Given the description of an element on the screen output the (x, y) to click on. 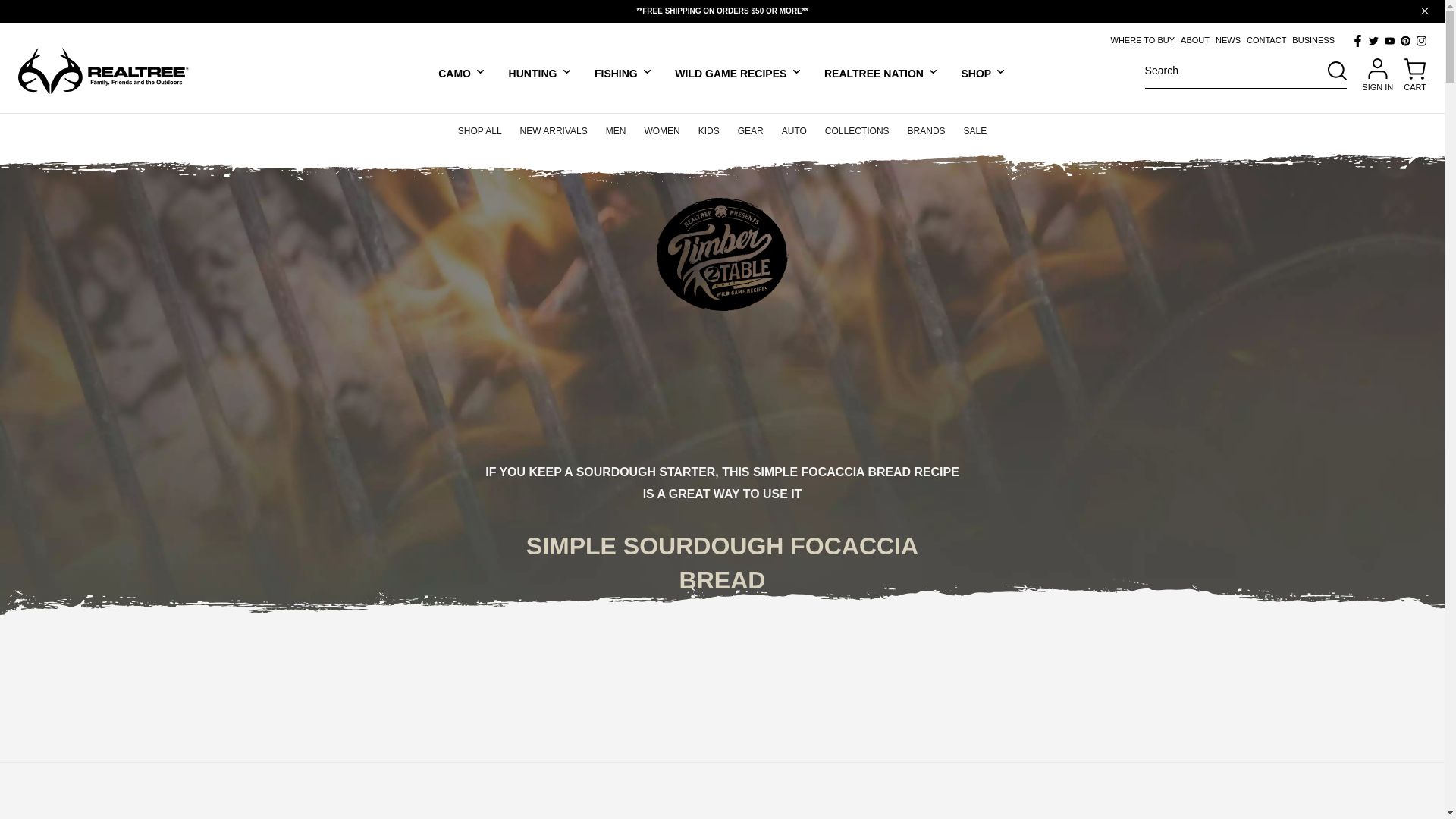
Close promo bar (1424, 10)
Close (1424, 10)
BUSINESS (1313, 40)
CONTACT (1265, 40)
HUNTING (540, 72)
ABOUT (1194, 40)
CAMO (461, 72)
WHERE TO BUY (1142, 40)
NEWS (1227, 40)
